Given the description of an element on the screen output the (x, y) to click on. 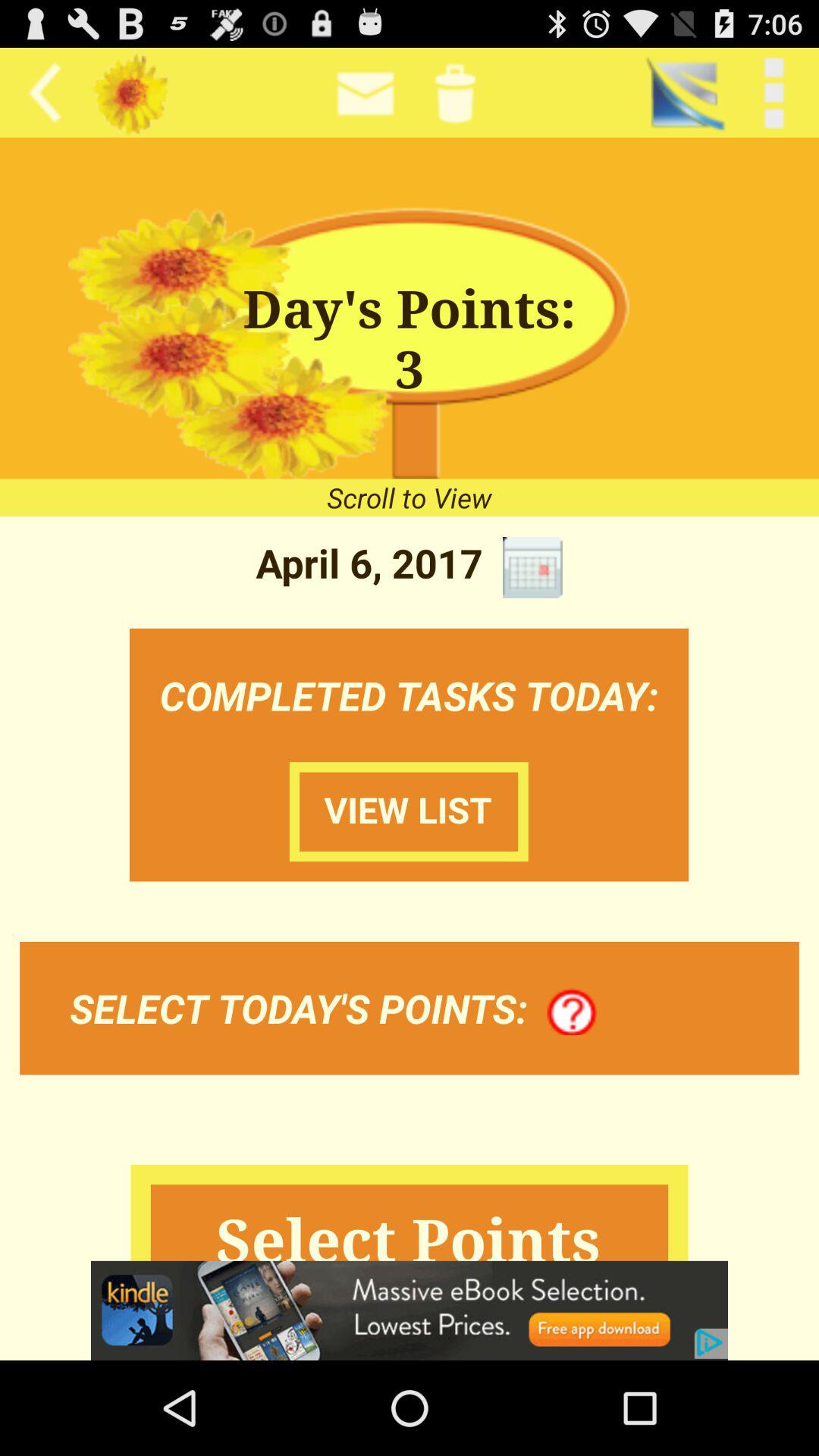
choose item above the select today s item (408, 811)
